Given the description of an element on the screen output the (x, y) to click on. 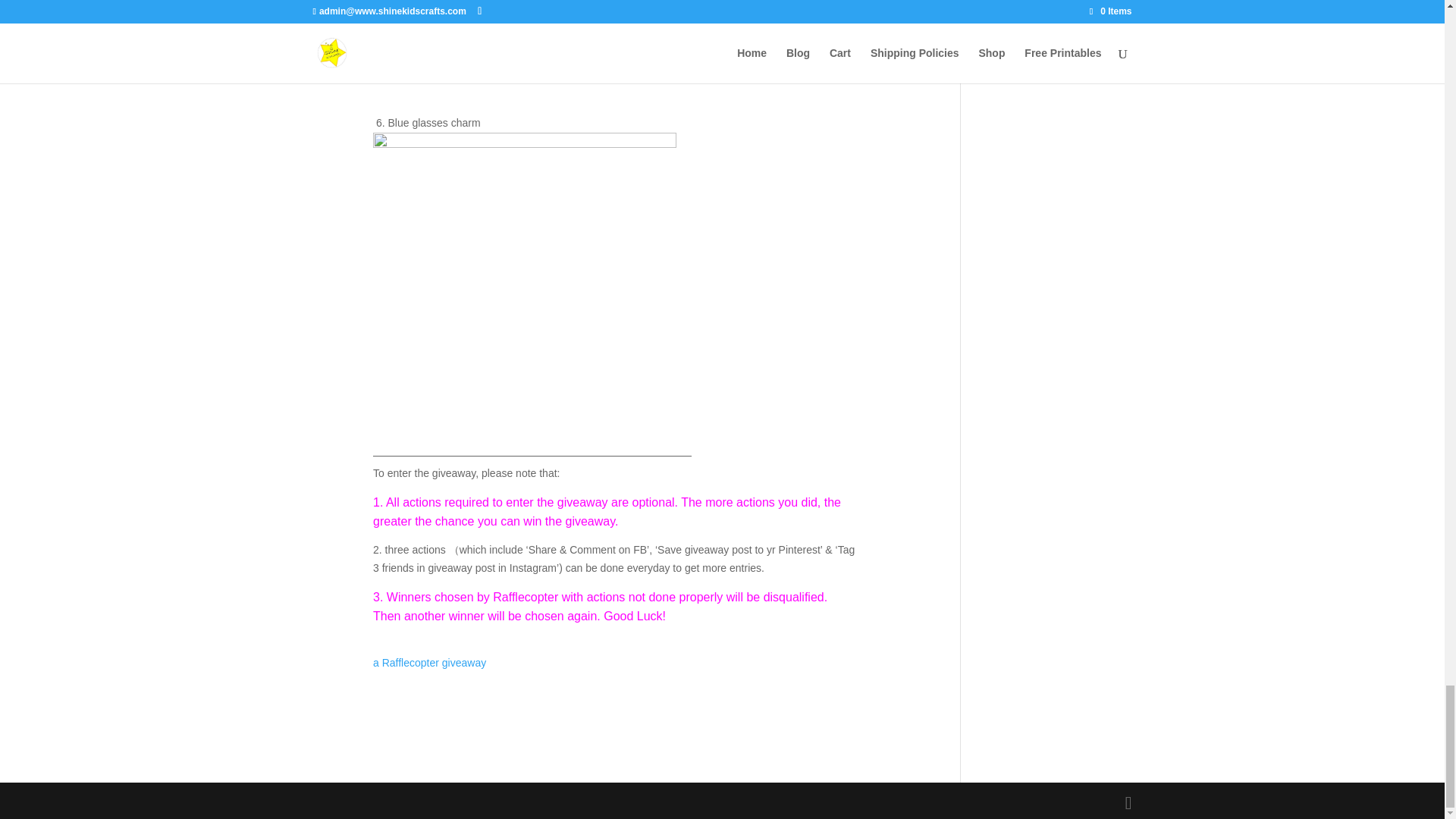
a Rafflecopter giveaway (429, 662)
